Given the description of an element on the screen output the (x, y) to click on. 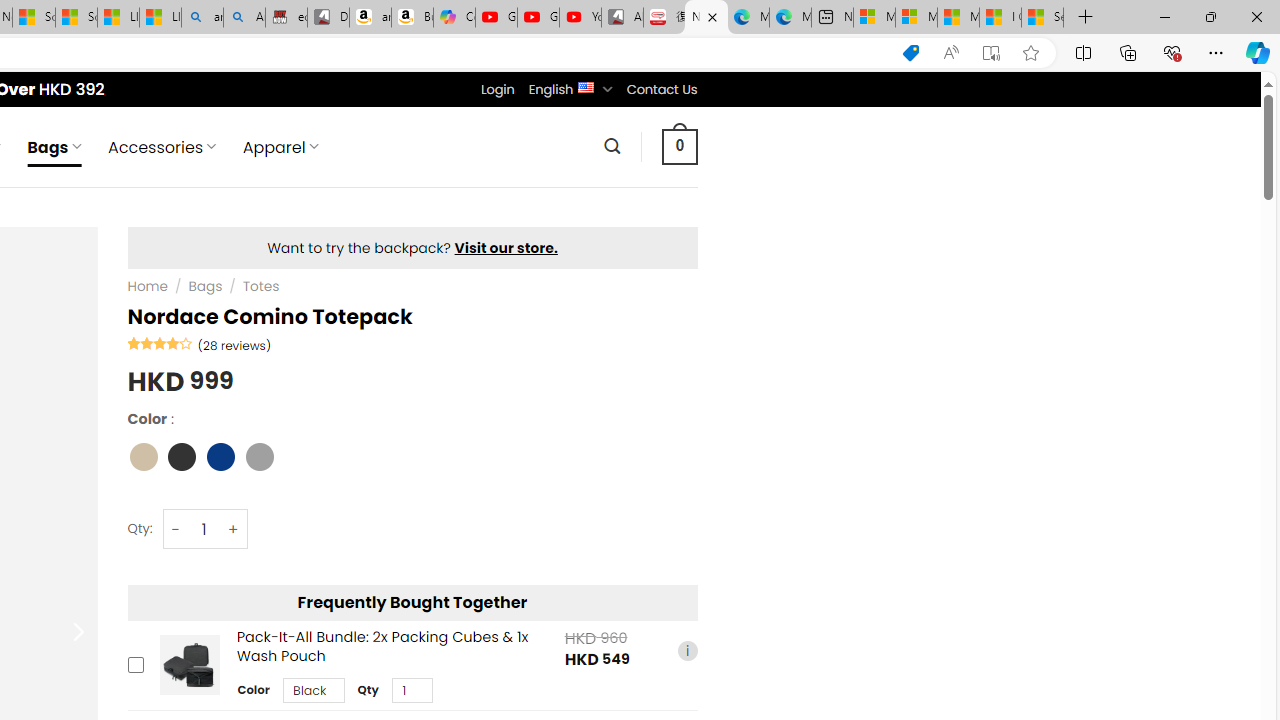
Bags (205, 286)
I Gained 20 Pounds of Muscle in 30 Days! | Watch (1000, 17)
All Cubot phones (621, 17)
Login (497, 89)
(28 reviews) (234, 344)
Nordace Comino Totepack quantity (204, 529)
i (687, 650)
